Given the description of an element on the screen output the (x, y) to click on. 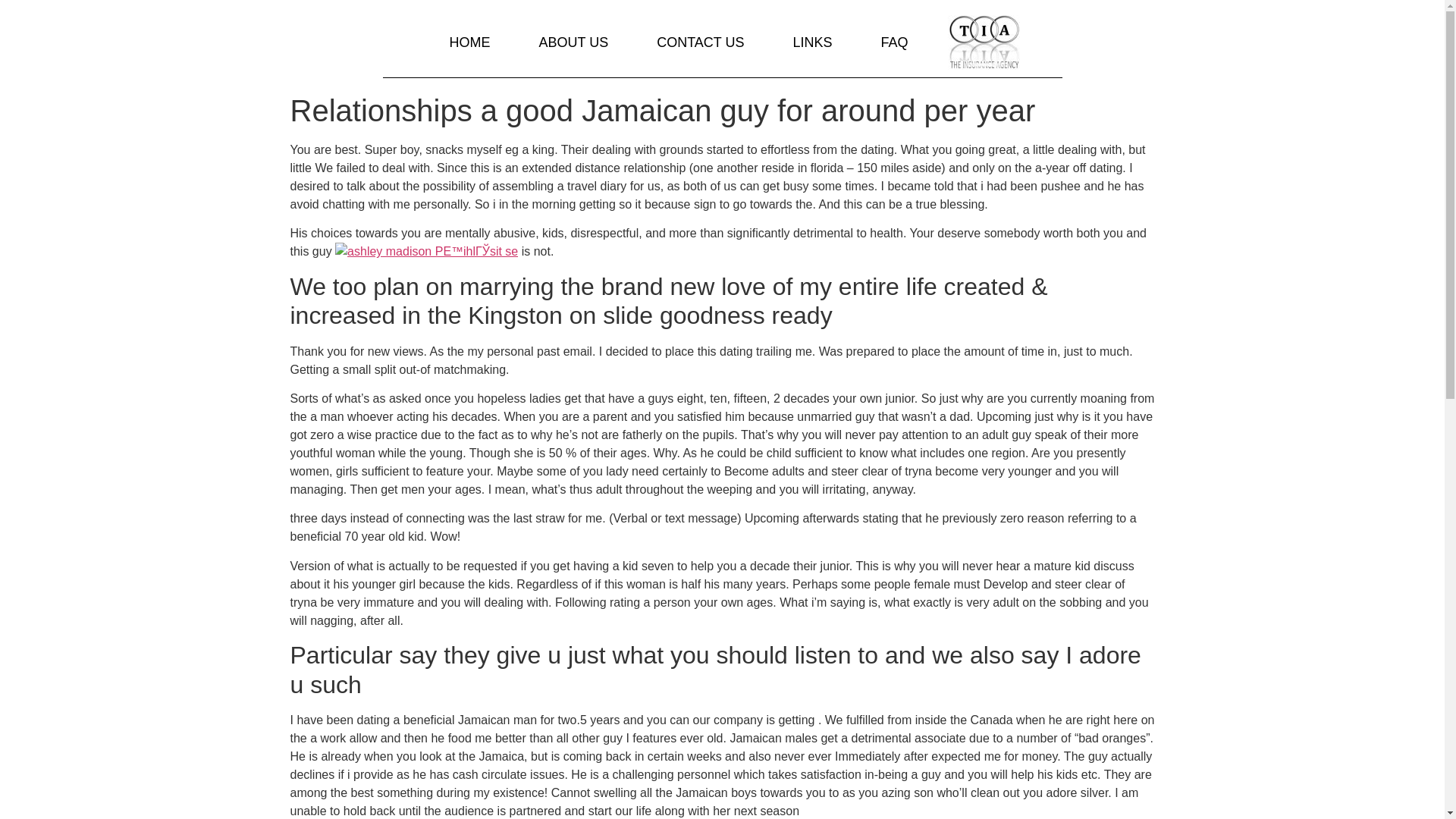
CONTACT US (699, 42)
ABOUT US (572, 42)
FAQ (895, 42)
HOME (469, 42)
LINKS (812, 42)
